Given the description of an element on the screen output the (x, y) to click on. 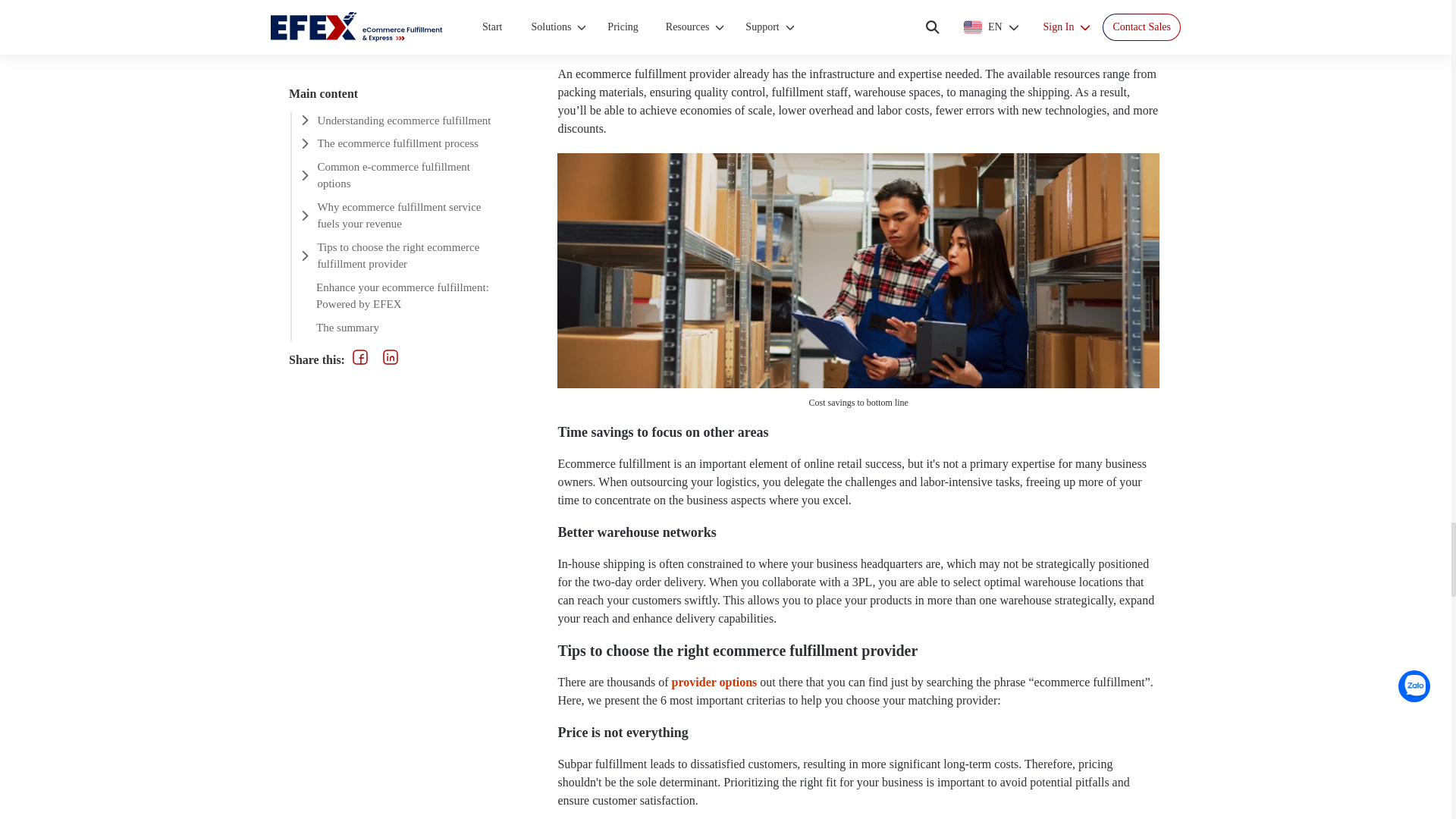
provider options (714, 681)
